Given the description of an element on the screen output the (x, y) to click on. 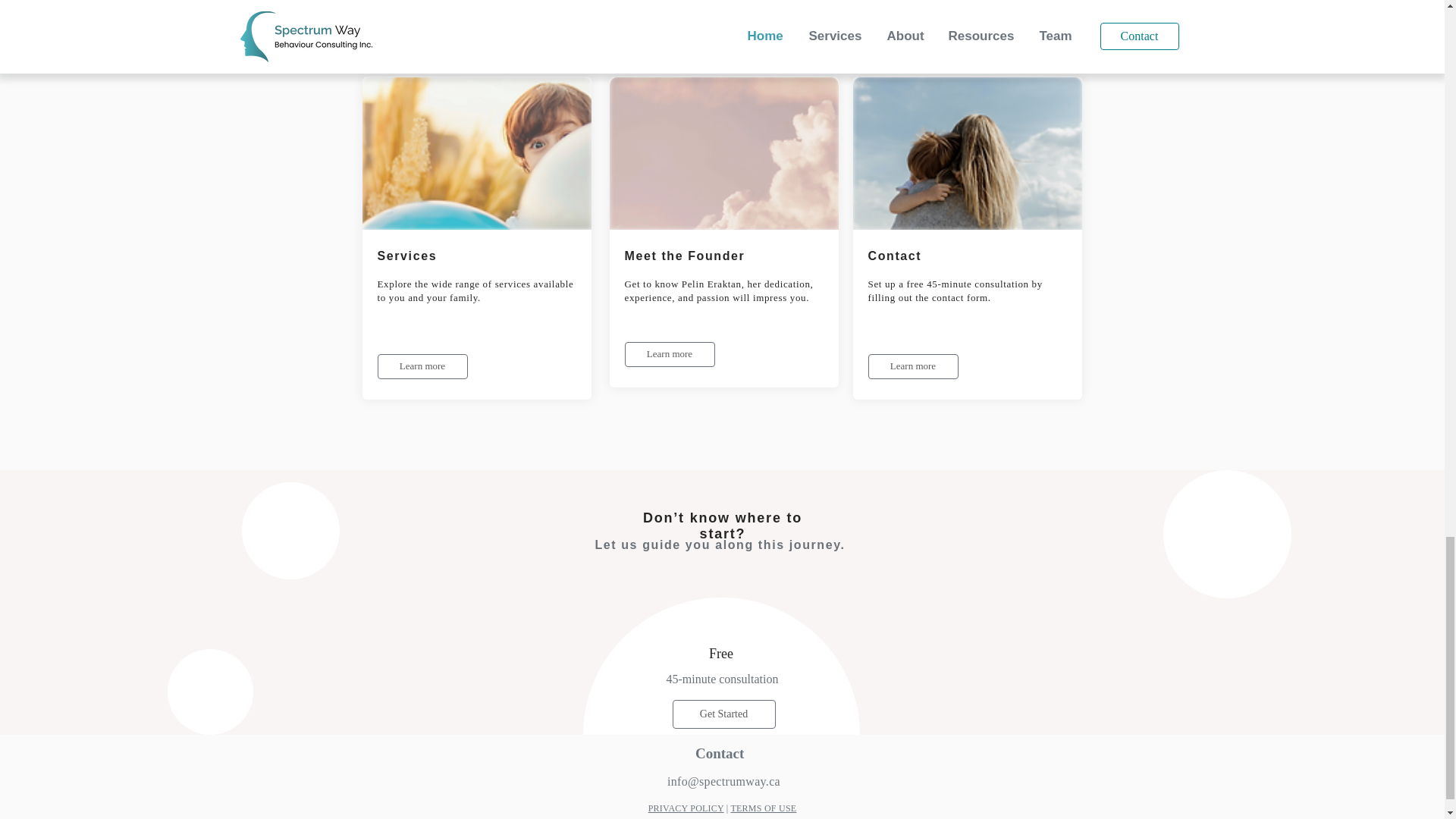
PRIVACY POLICY (685, 808)
Learn more (669, 354)
Learn more (912, 366)
Learn more (422, 366)
TERMS OF USE (763, 808)
Get Started (722, 714)
